Given the description of an element on the screen output the (x, y) to click on. 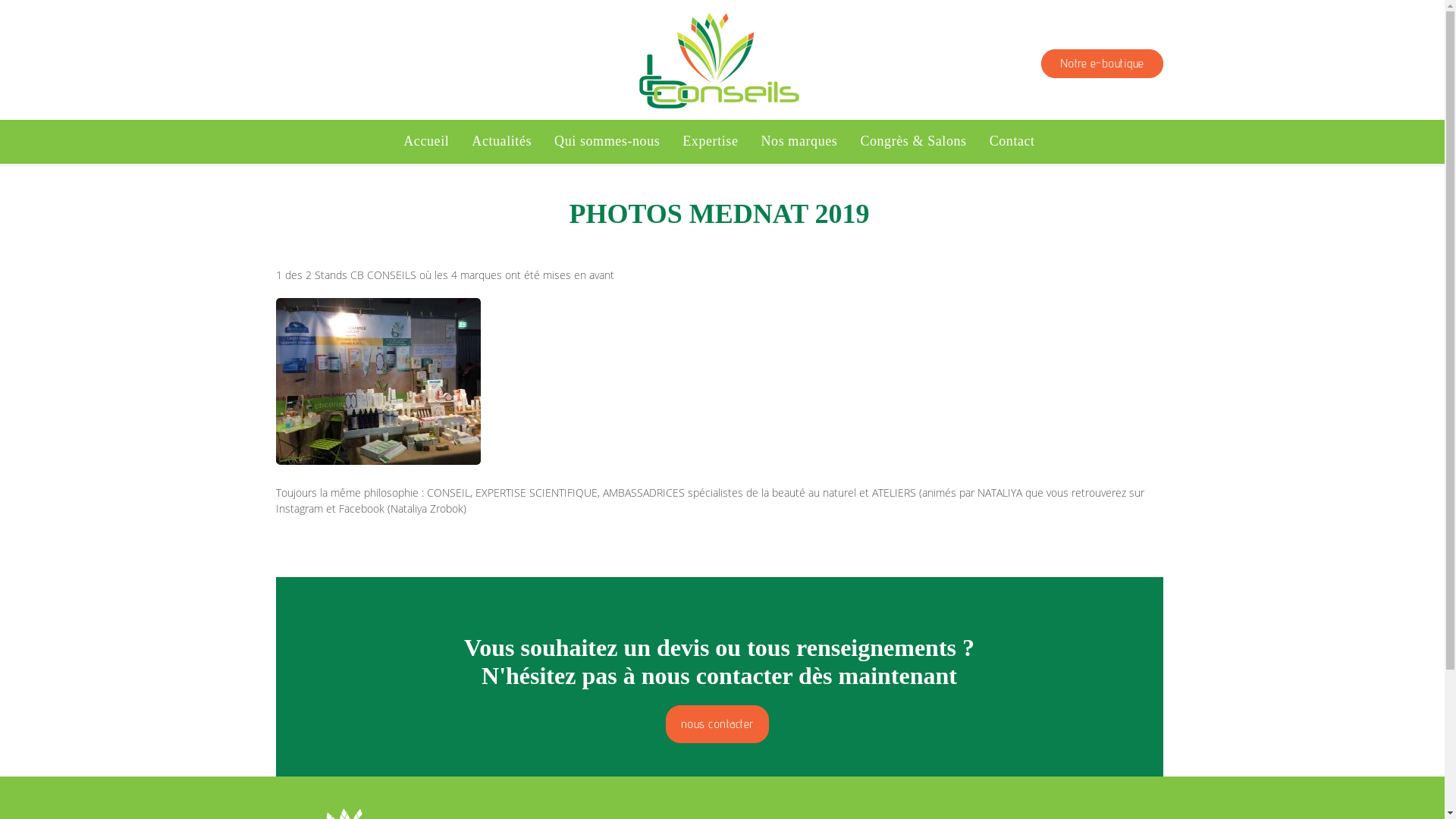
Contact Element type: text (1012, 141)
Expertise Element type: text (710, 141)
nous contacter Element type: text (716, 724)
Accueil Element type: text (426, 141)
Qui sommes-nous Element type: text (606, 141)
Nos marques Element type: text (798, 141)
Notre e-boutique Element type: text (1101, 63)
